Given the description of an element on the screen output the (x, y) to click on. 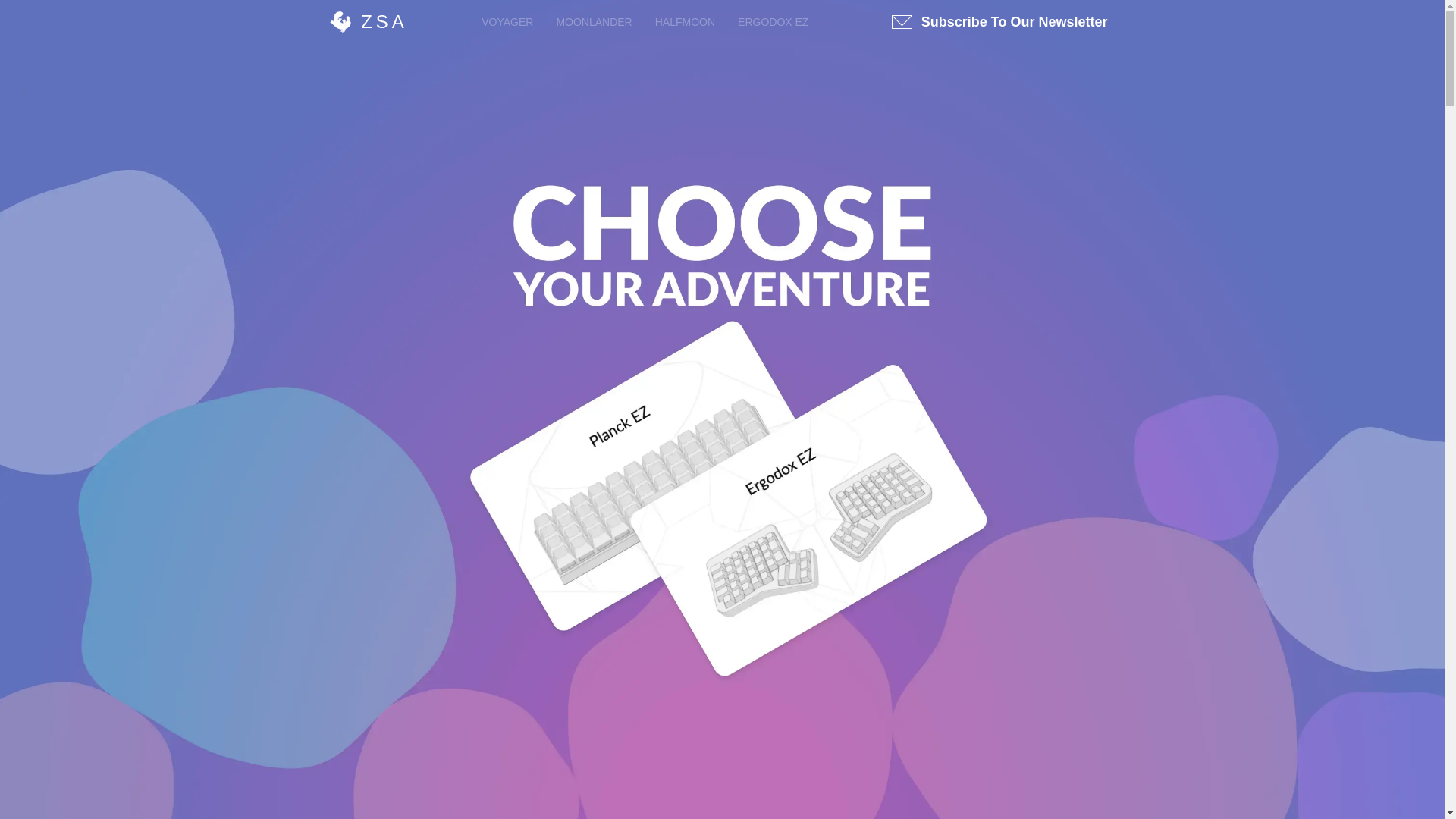
VOYAGER (506, 21)
Subscribe To Our Newsletter (999, 22)
HALFMOON (684, 21)
 ZSA (367, 21)
ERGODOX EZ (773, 21)
MOONLANDER (593, 21)
